Given the description of an element on the screen output the (x, y) to click on. 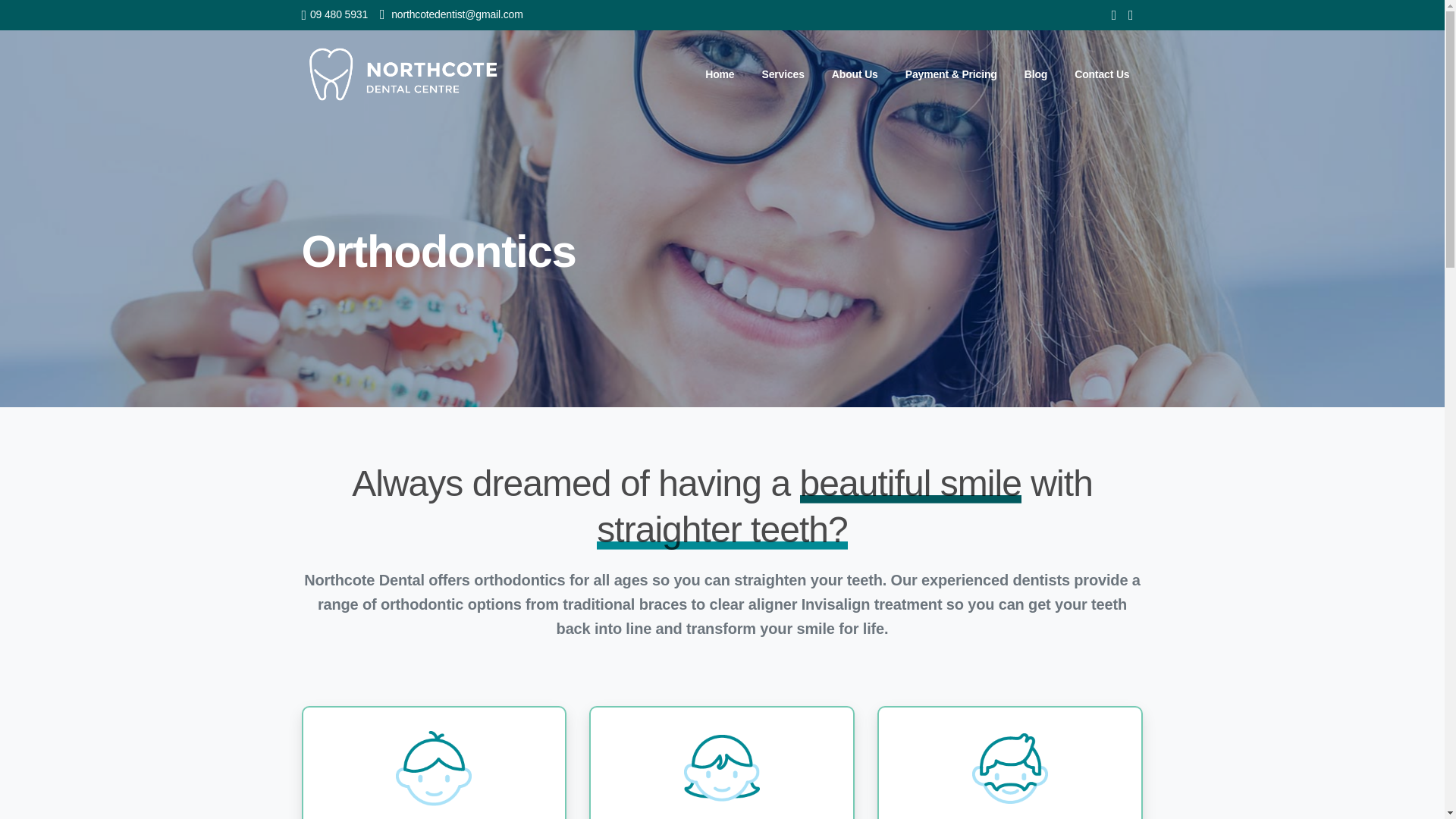
About Us (854, 74)
Contact Us (1101, 74)
Home (718, 74)
Services (782, 74)
Services (782, 74)
Facebook (1113, 15)
Orthodontics For Kids (434, 774)
Blog (1034, 74)
instagram (1130, 15)
Home (718, 74)
